Given the description of an element on the screen output the (x, y) to click on. 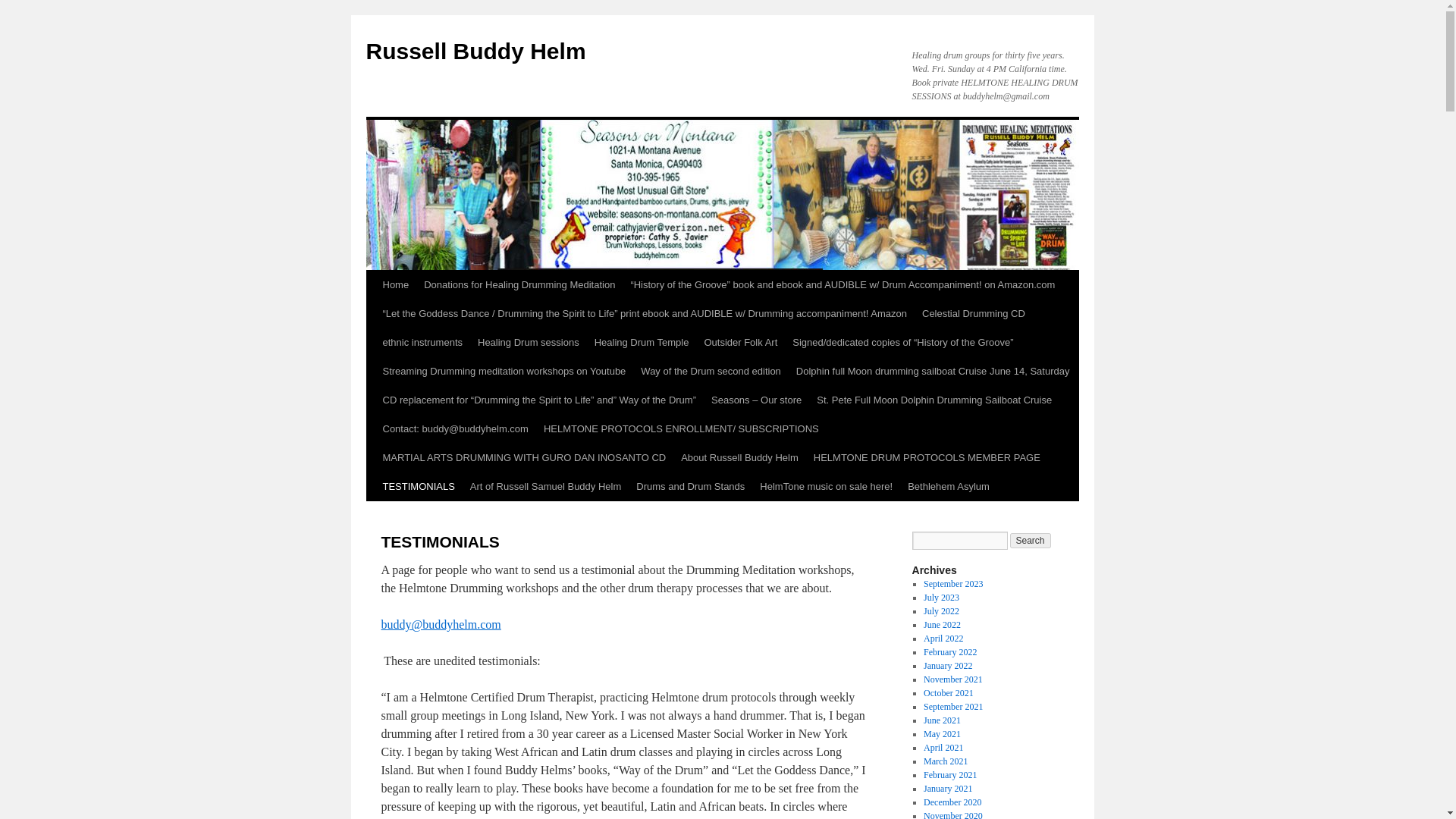
Russell Buddy Helm (475, 50)
ethnic instruments (422, 342)
Dolphin full Moon drumming sailboat Cruise June 14, Saturday (933, 371)
Healing Drum Temple (641, 342)
About Russell Buddy Helm (739, 457)
Way of the Drum second edition (711, 371)
HelmTone music on sale here! (825, 486)
Russell Buddy Helm (475, 50)
Bethlehem Asylum (948, 486)
Healing Drum sessions (528, 342)
